Given the description of an element on the screen output the (x, y) to click on. 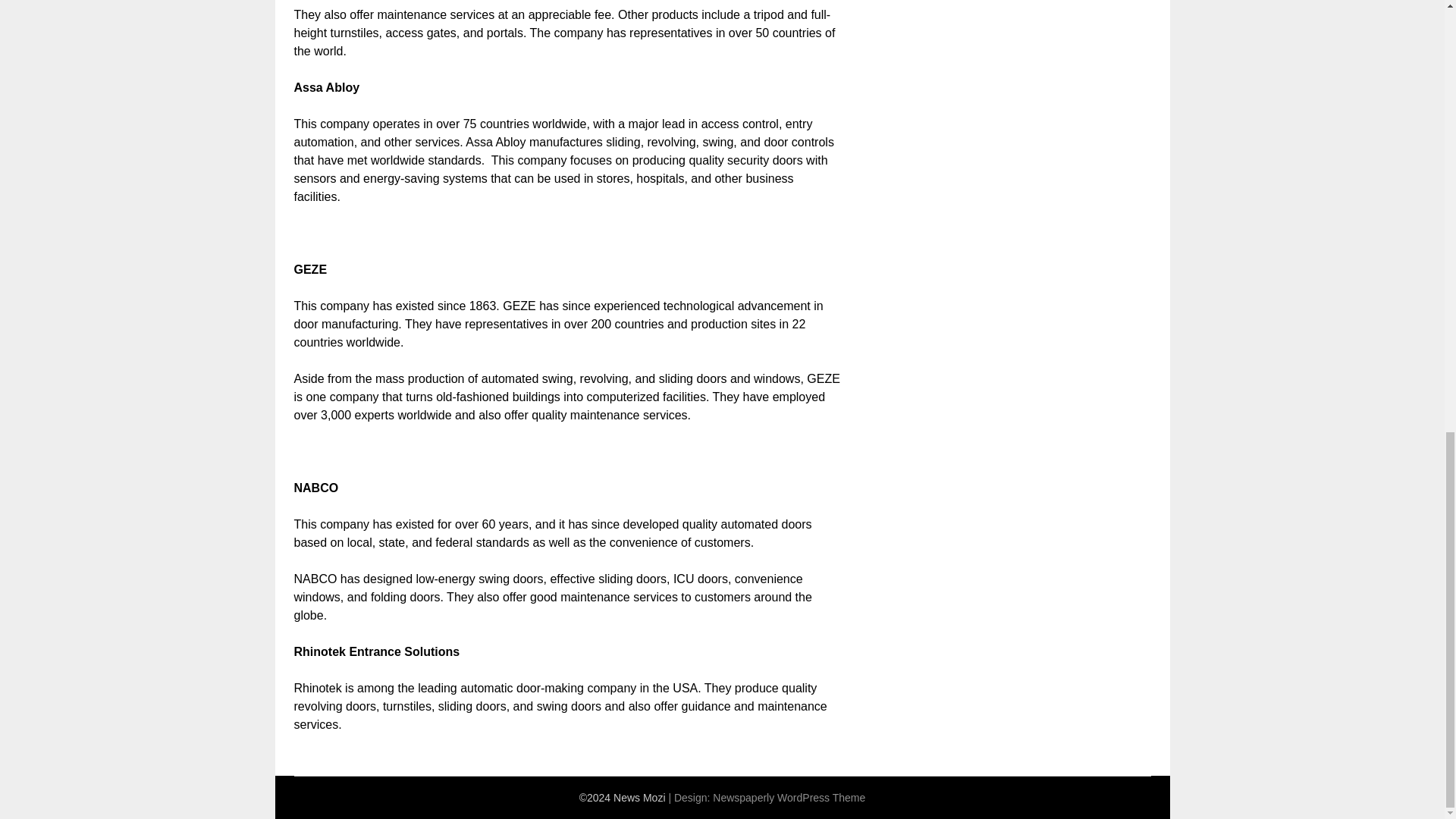
Newspaperly WordPress Theme (788, 797)
